Given the description of an element on the screen output the (x, y) to click on. 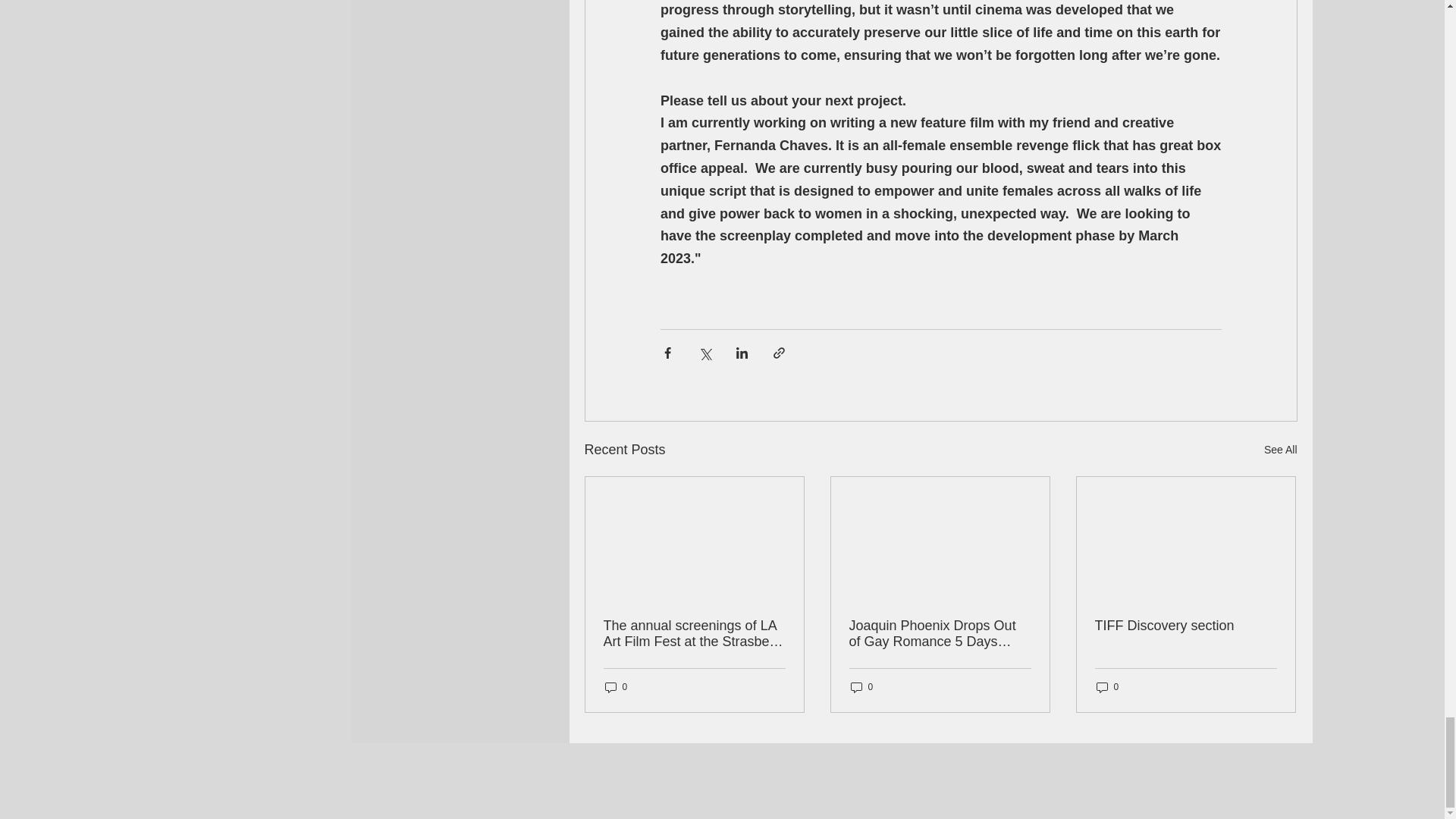
TIFF Discovery section (1185, 625)
0 (616, 687)
0 (1107, 687)
0 (861, 687)
See All (1280, 449)
